Given the description of an element on the screen output the (x, y) to click on. 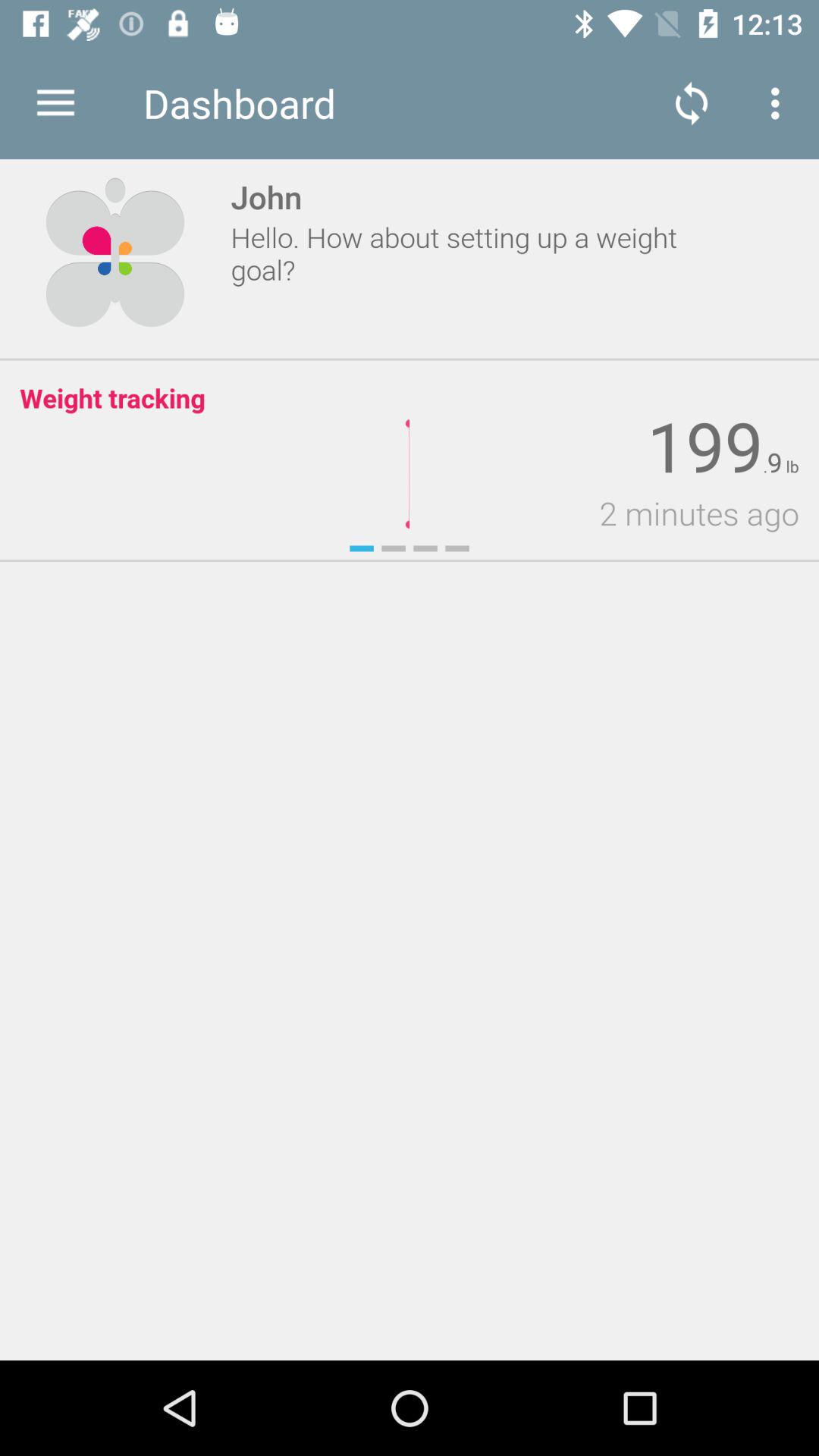
turn on item to the right of dashboard app (691, 103)
